Given the description of an element on the screen output the (x, y) to click on. 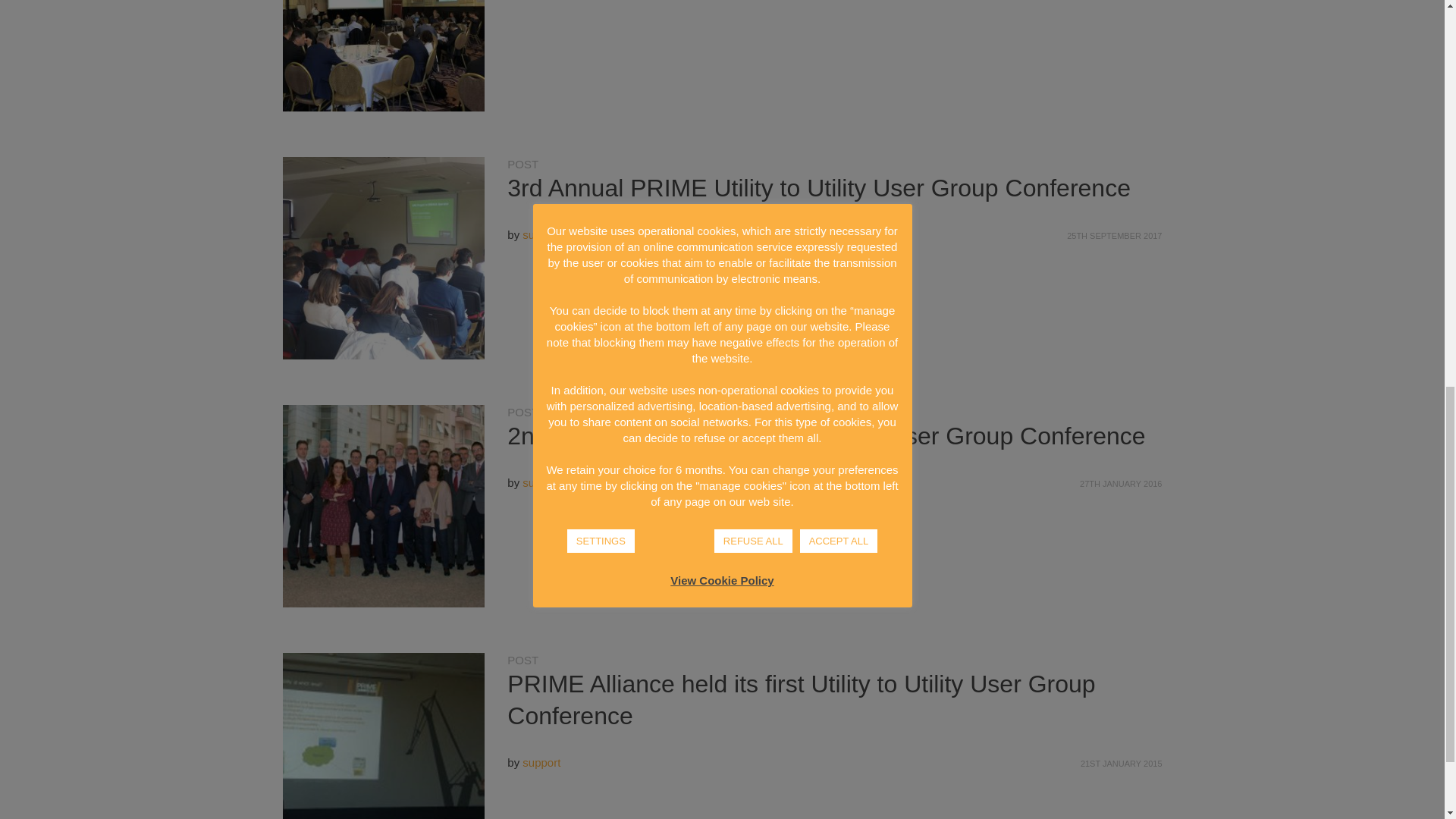
4th Annual PRIME Utility to Utility User Group Conference (383, 56)
